Given the description of an element on the screen output the (x, y) to click on. 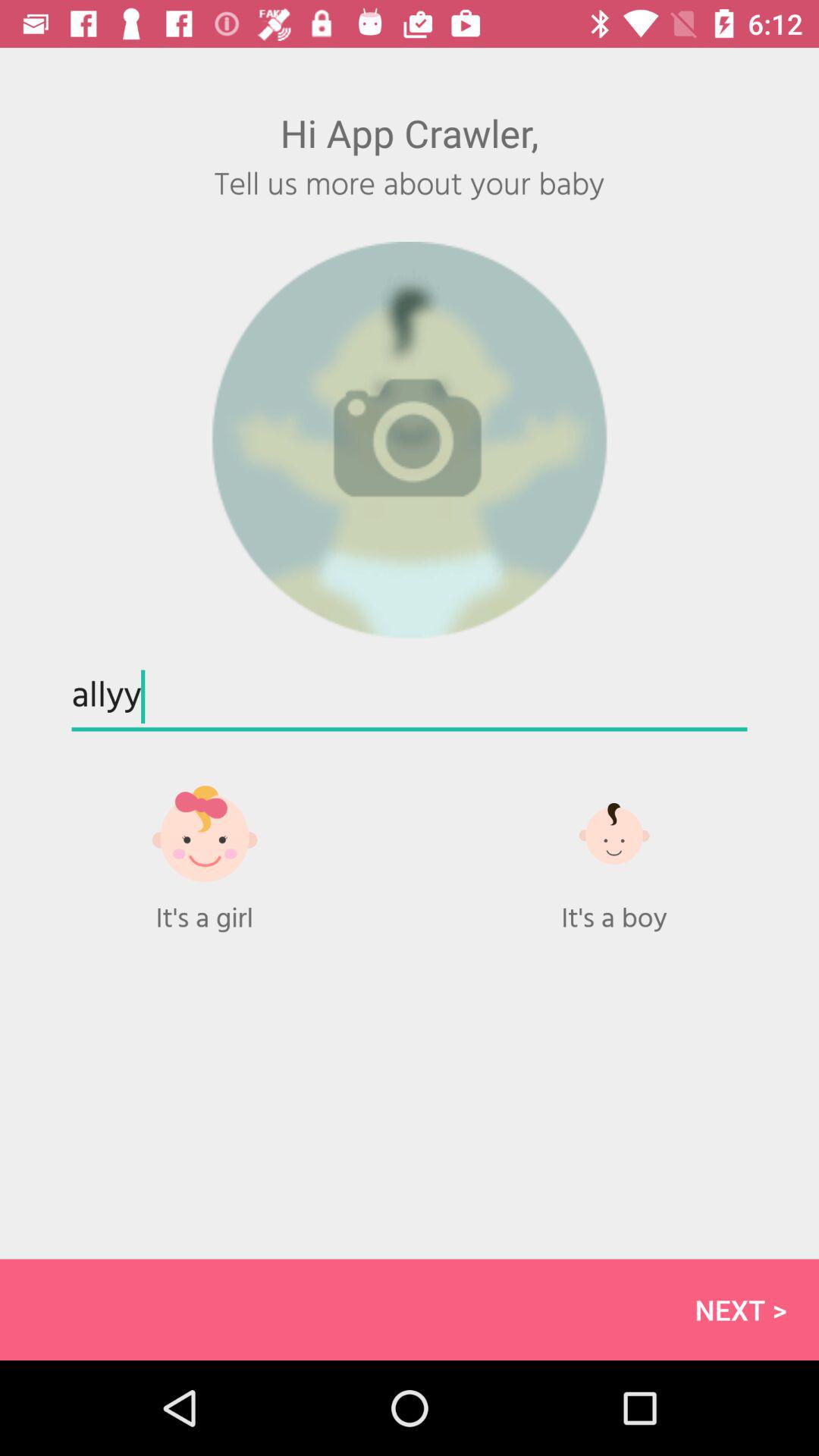
choose boy (614, 833)
